Given the description of an element on the screen output the (x, y) to click on. 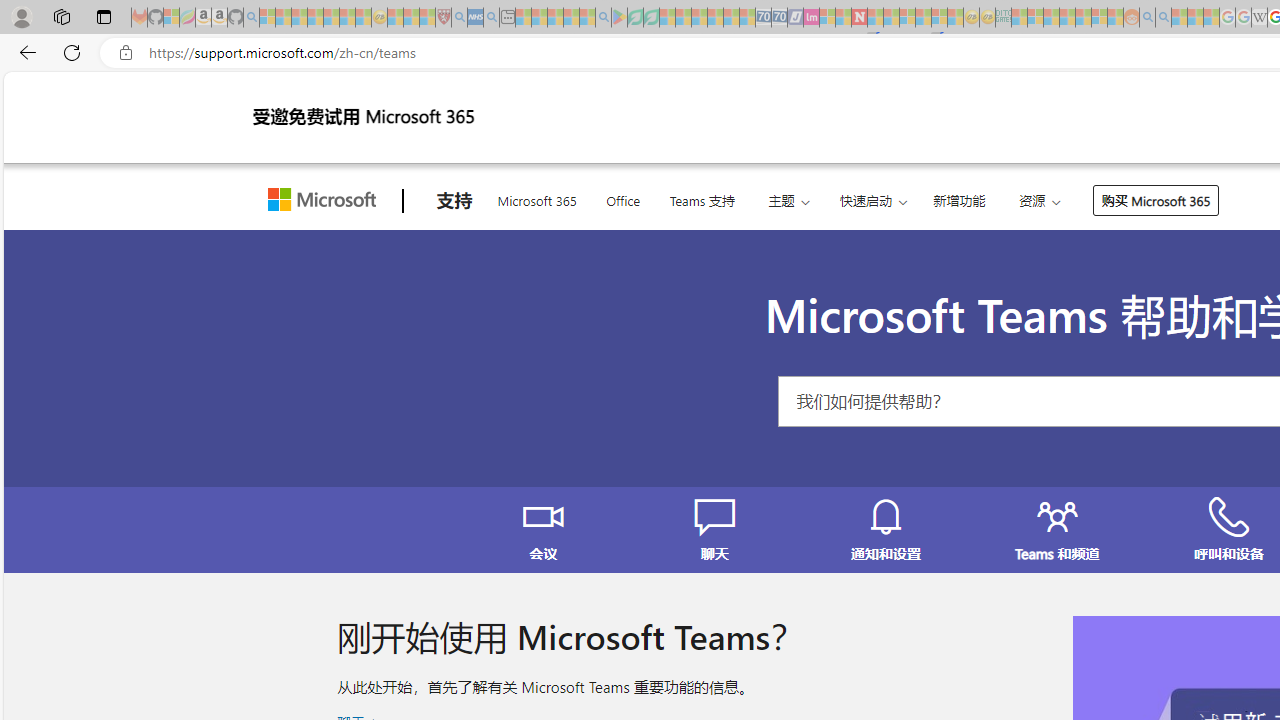
Target page - Wikipedia - Sleeping (1259, 17)
